Given the description of an element on the screen output the (x, y) to click on. 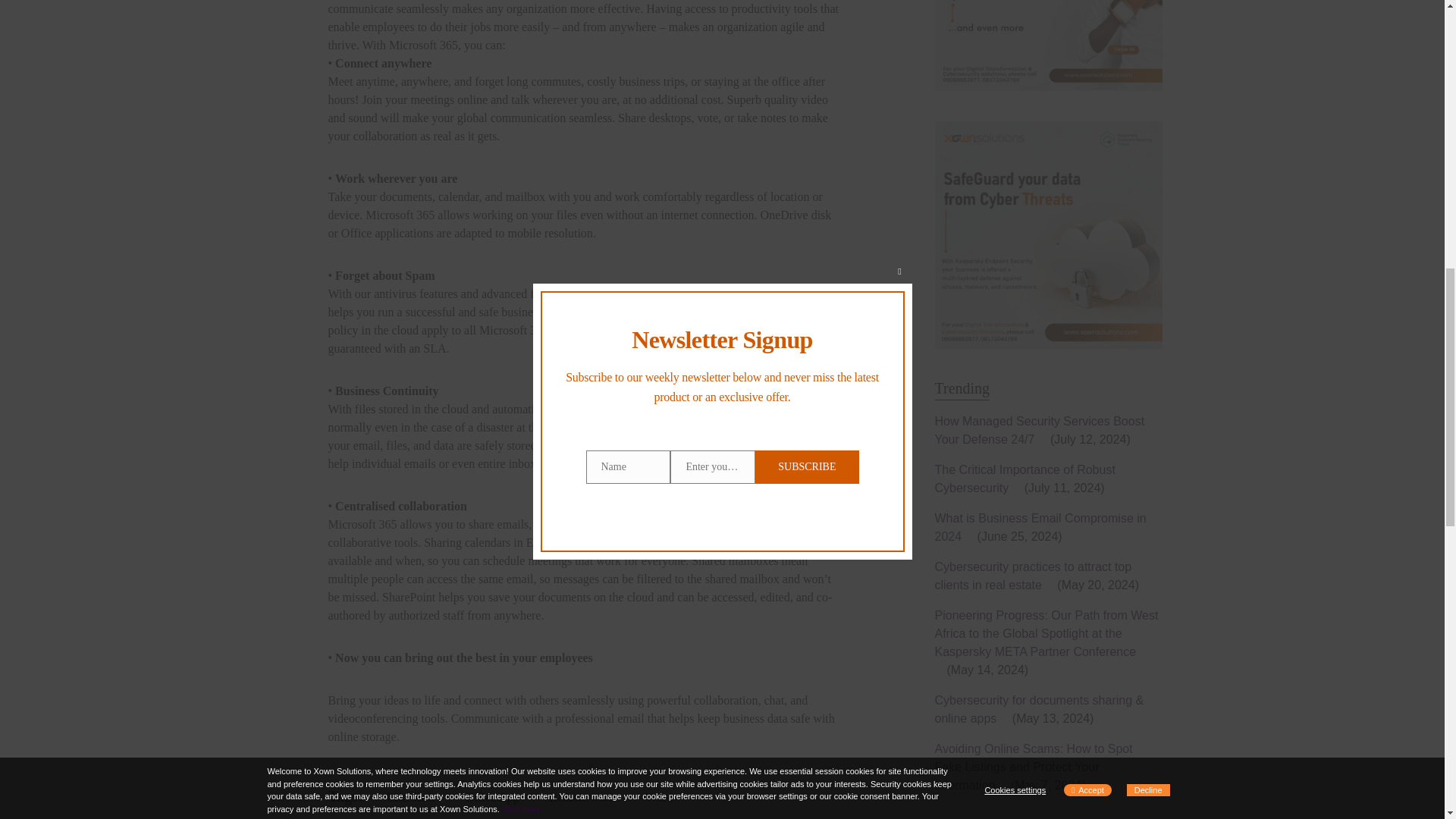
Office App (491, 797)
Microsoft (410, 797)
Word (658, 797)
Remote work (582, 797)
